Given the description of an element on the screen output the (x, y) to click on. 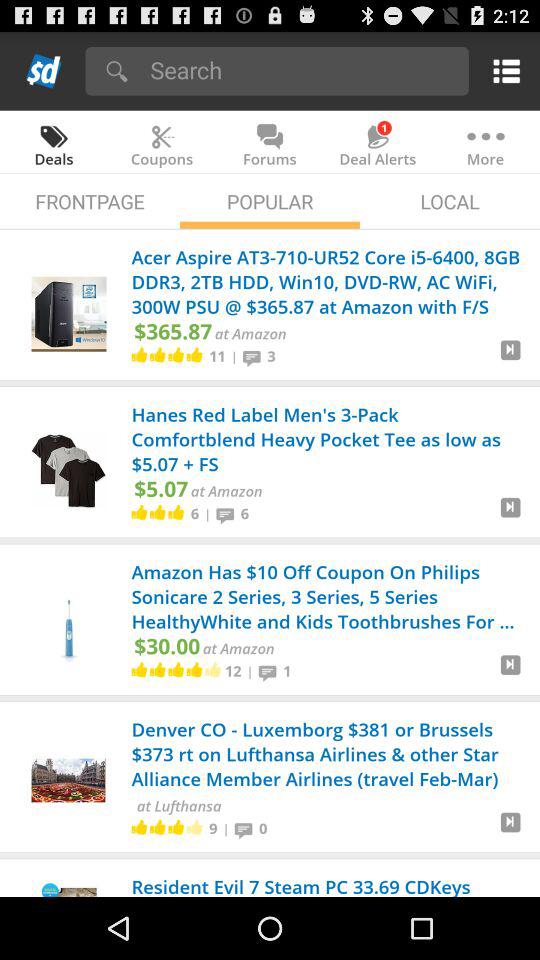
go to next page (510, 357)
